Given the description of an element on the screen output the (x, y) to click on. 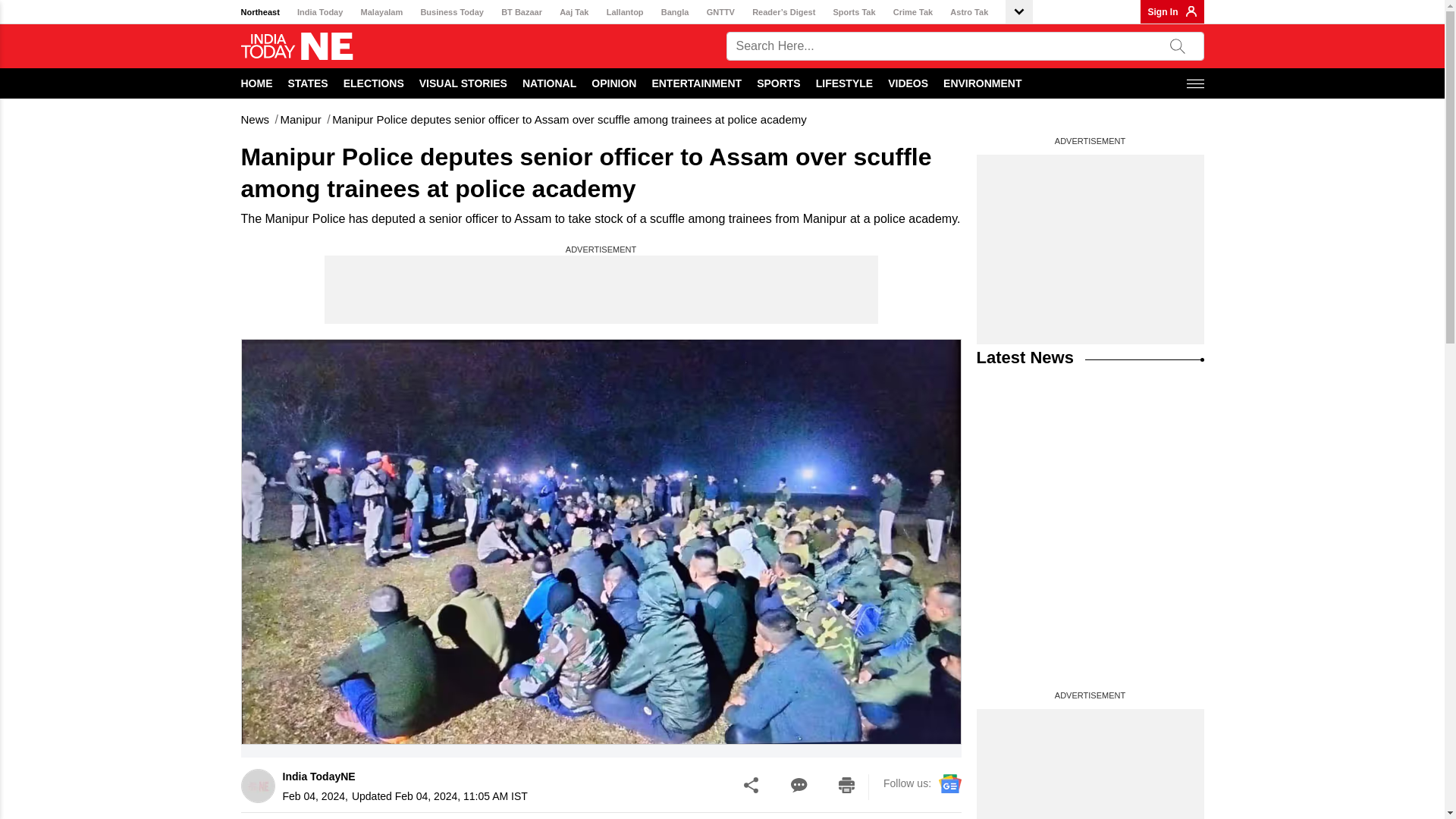
Bangla (674, 12)
India Today (319, 12)
India Today (319, 12)
Astro Tak (969, 12)
Business Today (451, 12)
Crime Tak (913, 12)
Sports Tak (854, 12)
GNTTV (720, 12)
Northeast (260, 12)
Business Today (451, 12)
